Given the description of an element on the screen output the (x, y) to click on. 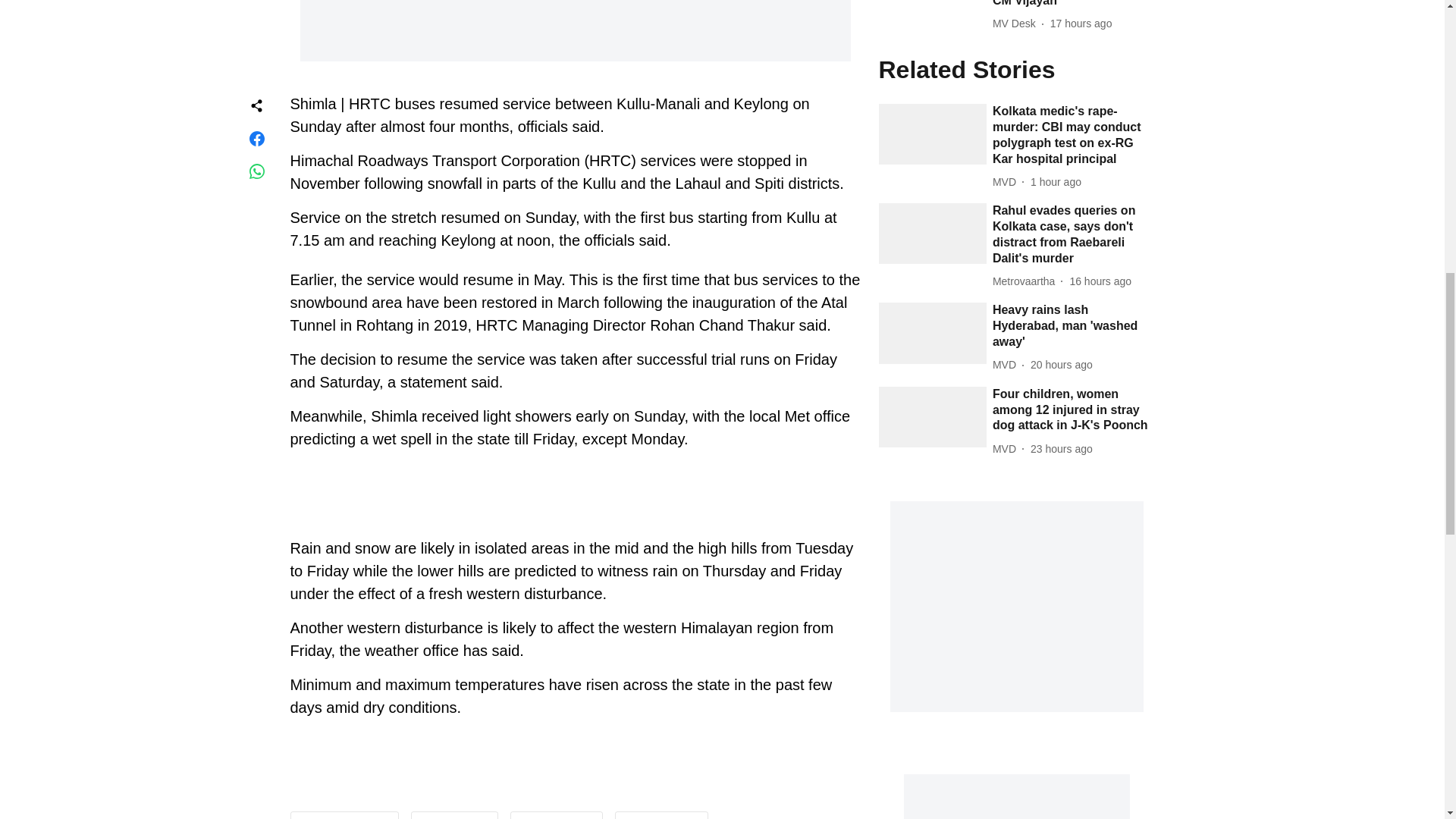
2024-08-20 12:27 (1080, 23)
2024-08-21 04:05 (1055, 182)
bus service (453, 818)
and Keylong (661, 818)
2024-08-20 13:42 (1099, 281)
2024-08-20 09:17 (1061, 365)
2024-08-20 06:32 (1061, 449)
Kullu-Manali (555, 818)
